Given the description of an element on the screen output the (x, y) to click on. 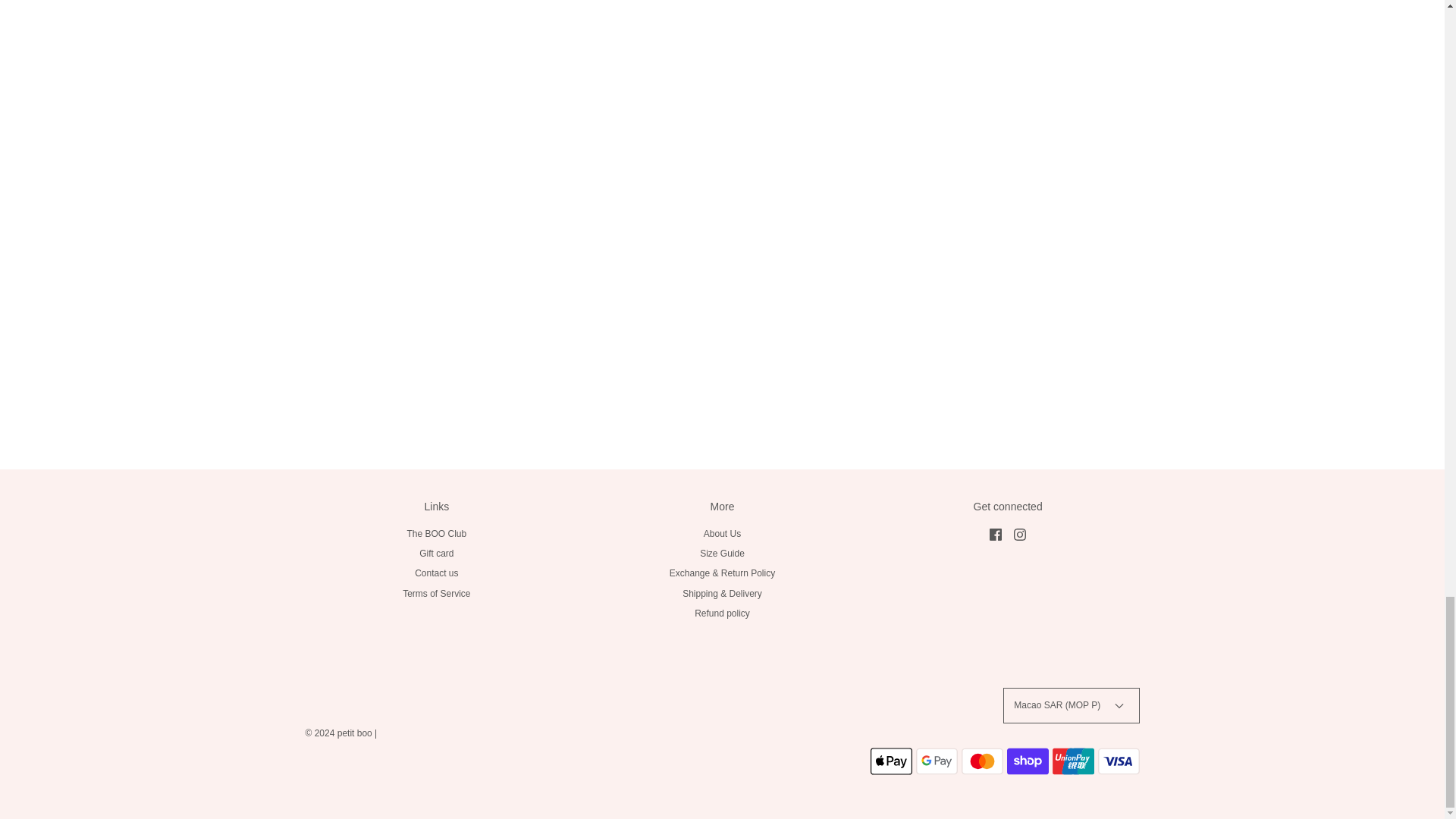
Facebook icon (995, 534)
Mastercard (981, 761)
Google Pay (936, 761)
Instagram icon (1019, 534)
Apple Pay (891, 761)
Shop Pay (1027, 761)
